Given the description of an element on the screen output the (x, y) to click on. 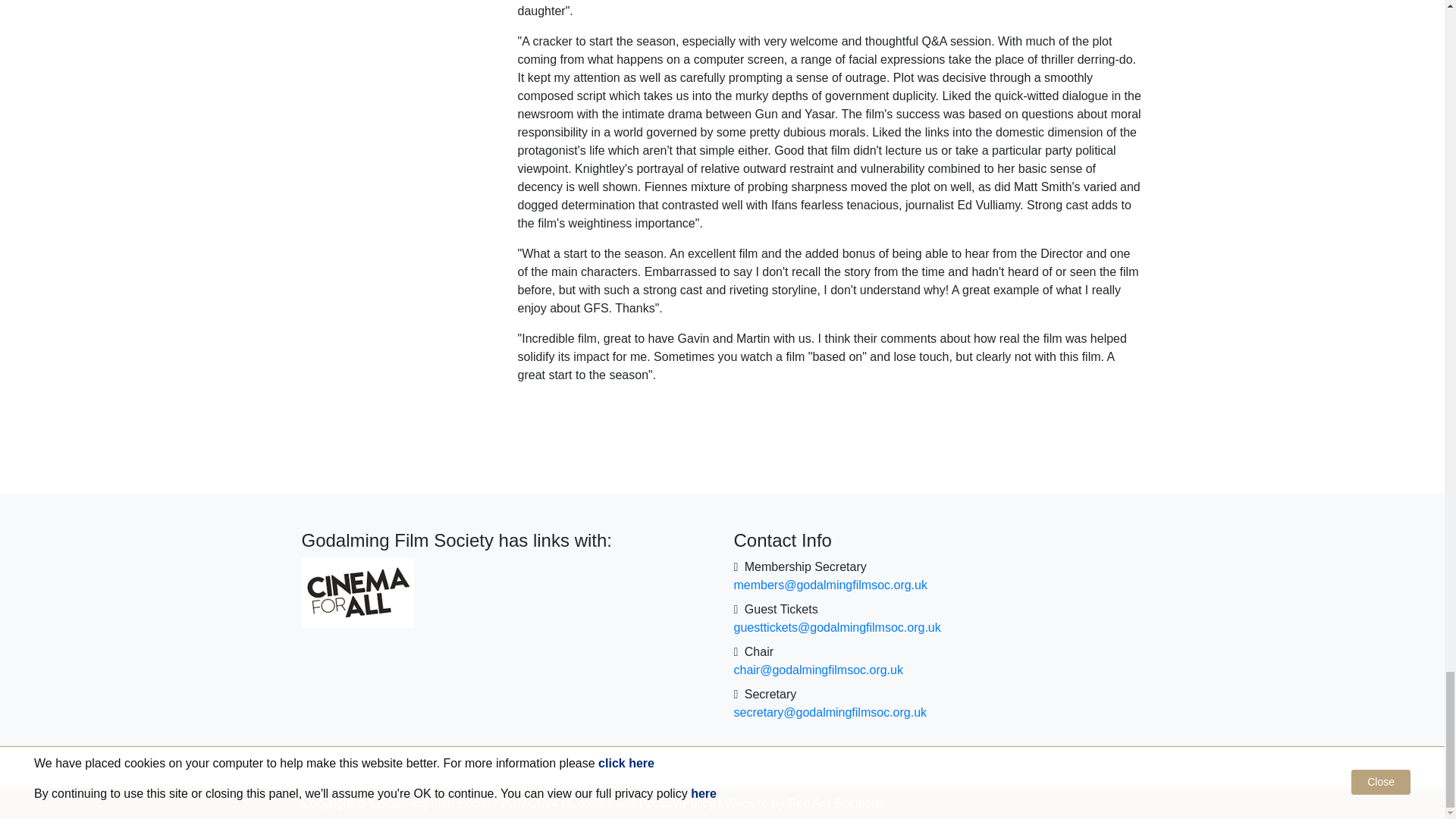
Cinema for all (357, 591)
